Given the description of an element on the screen output the (x, y) to click on. 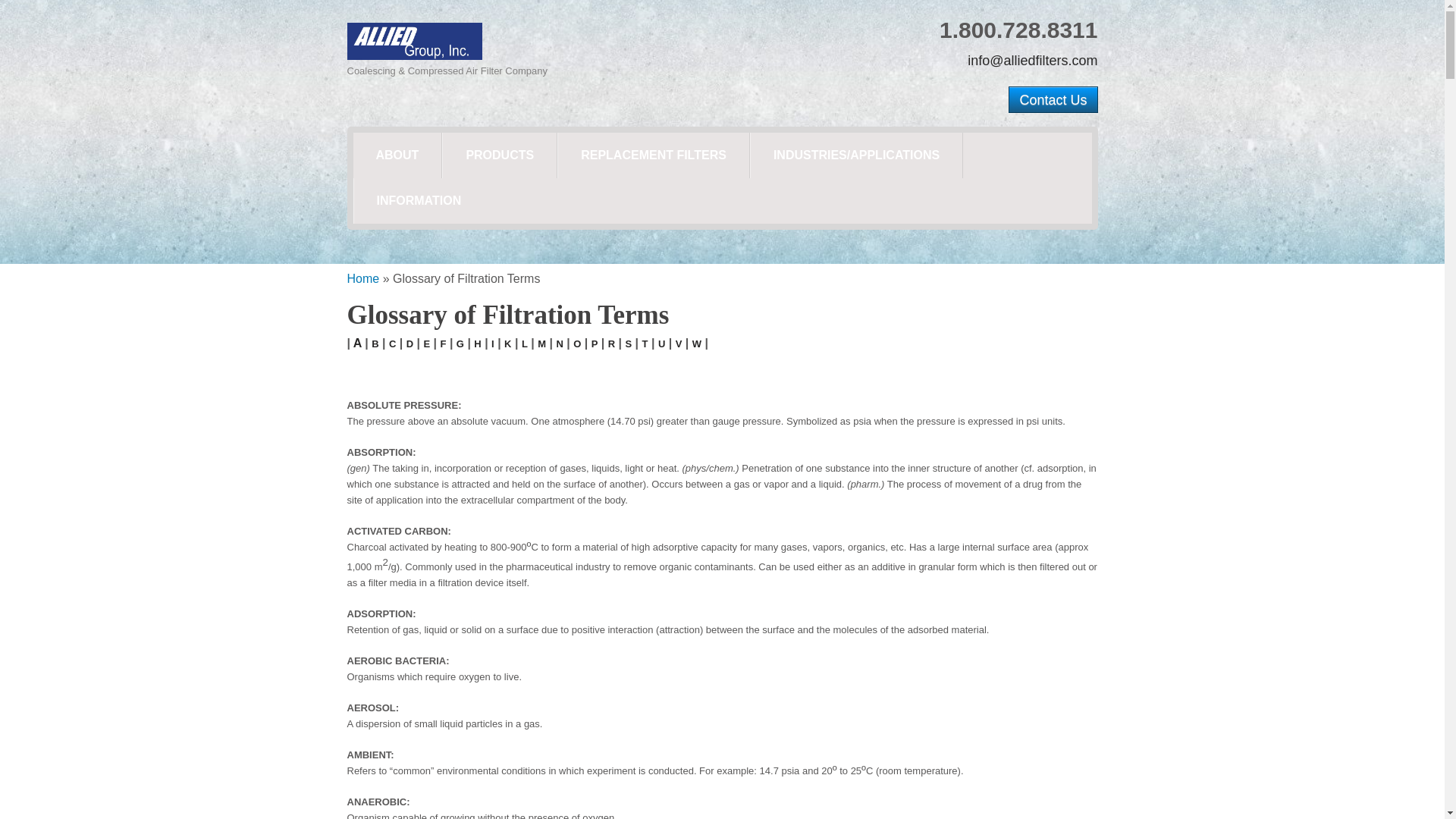
ABOUT (397, 155)
Home (363, 278)
REPLACEMENT FILTERS (653, 155)
PRODUCTS (499, 155)
Contact Us (1053, 99)
INFORMATION (418, 200)
